Given the description of an element on the screen output the (x, y) to click on. 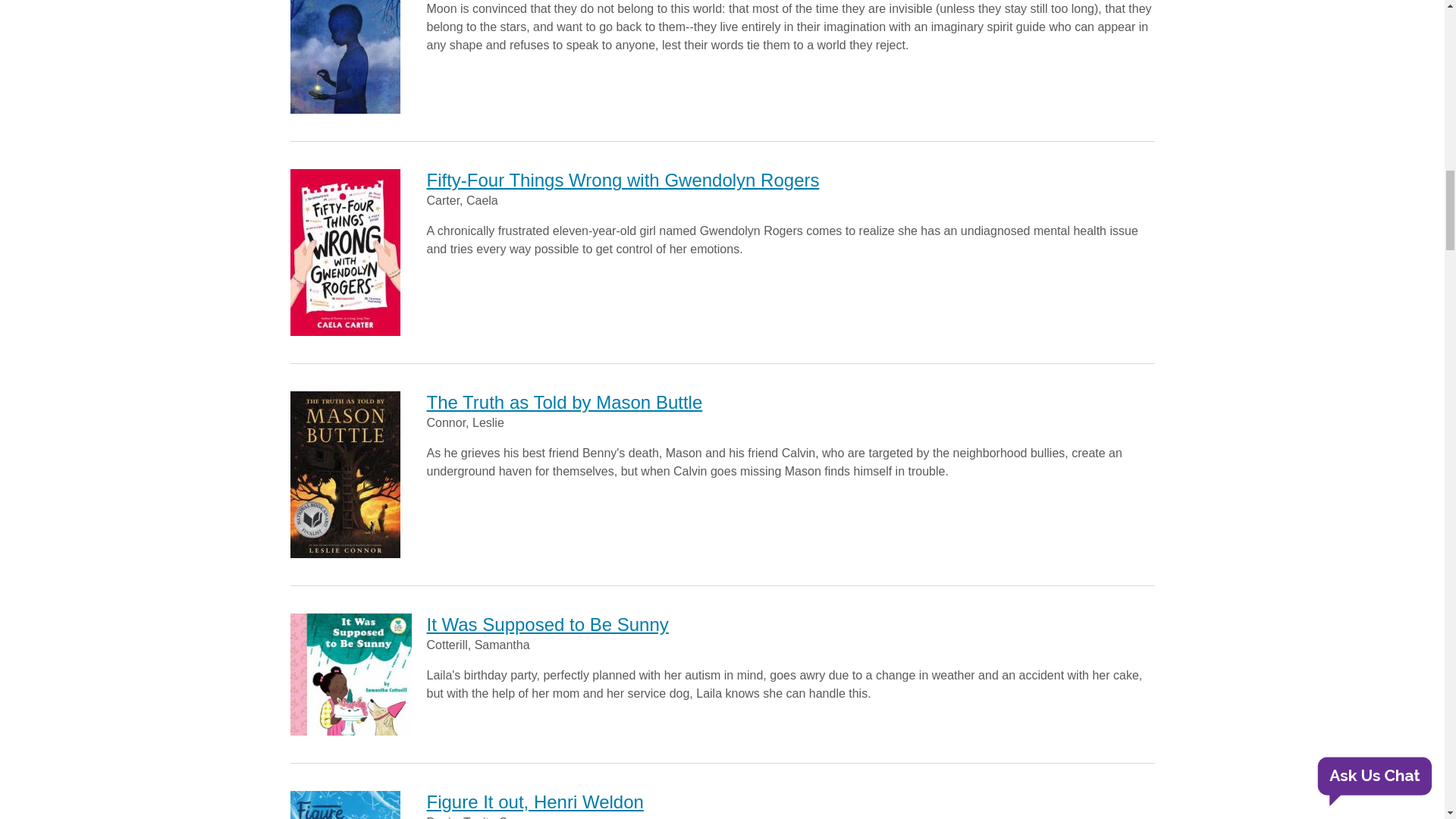
Fifty-Four Things Wrong with Gwendolyn Rogers (622, 179)
Figure It out, Henri Weldon (534, 801)
It Was Supposed to Be Sunny (547, 624)
The Truth as Told by Mason Buttle (563, 402)
